Given the description of an element on the screen output the (x, y) to click on. 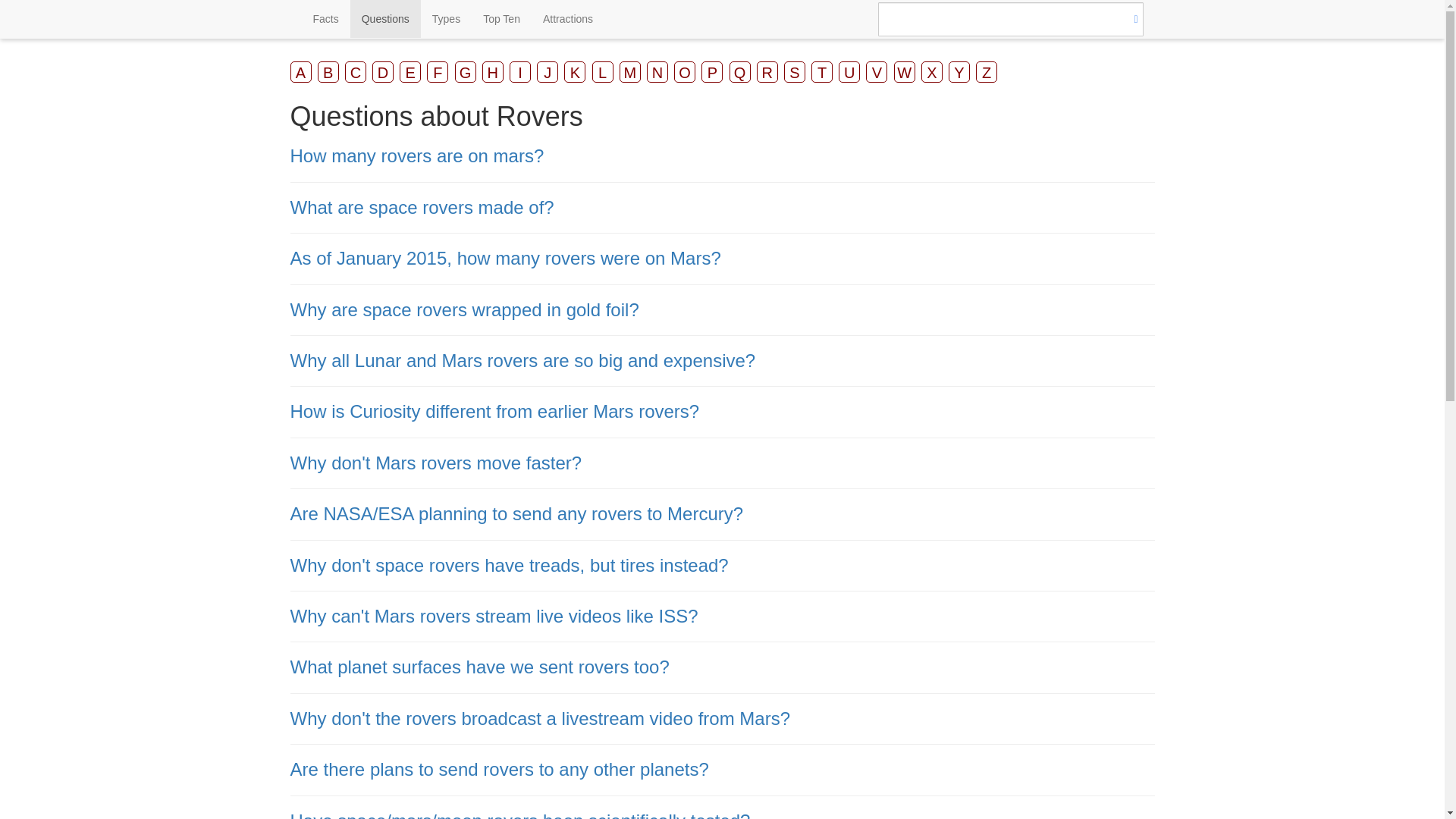
H (492, 71)
N (657, 71)
L (602, 71)
E (409, 71)
M (630, 71)
Q (740, 71)
Facts (325, 18)
F (437, 71)
J (547, 71)
Y (959, 71)
